Given the description of an element on the screen output the (x, y) to click on. 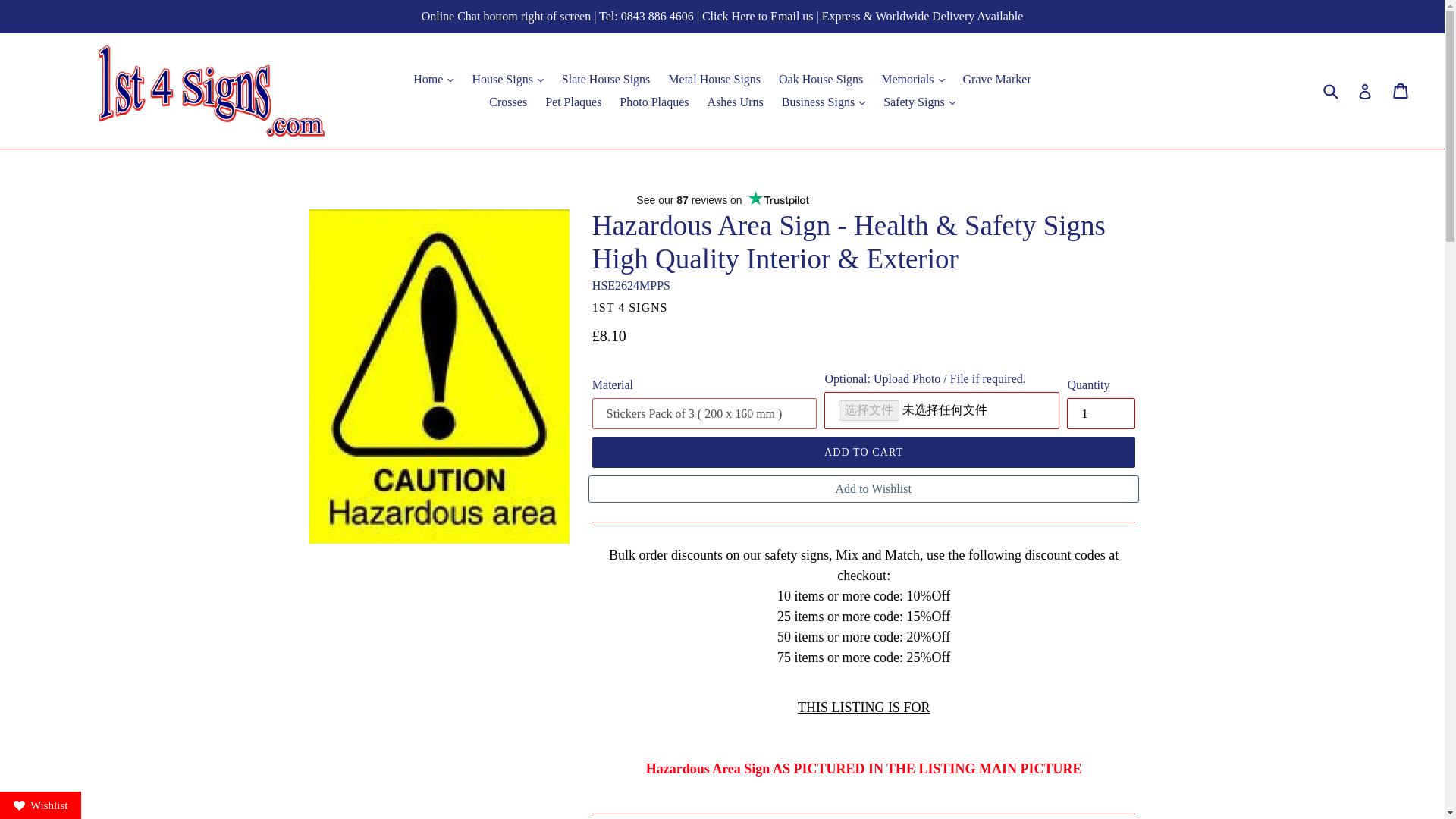
1 (1101, 413)
Customer reviews powered by Trustpilot (721, 199)
